Given the description of an element on the screen output the (x, y) to click on. 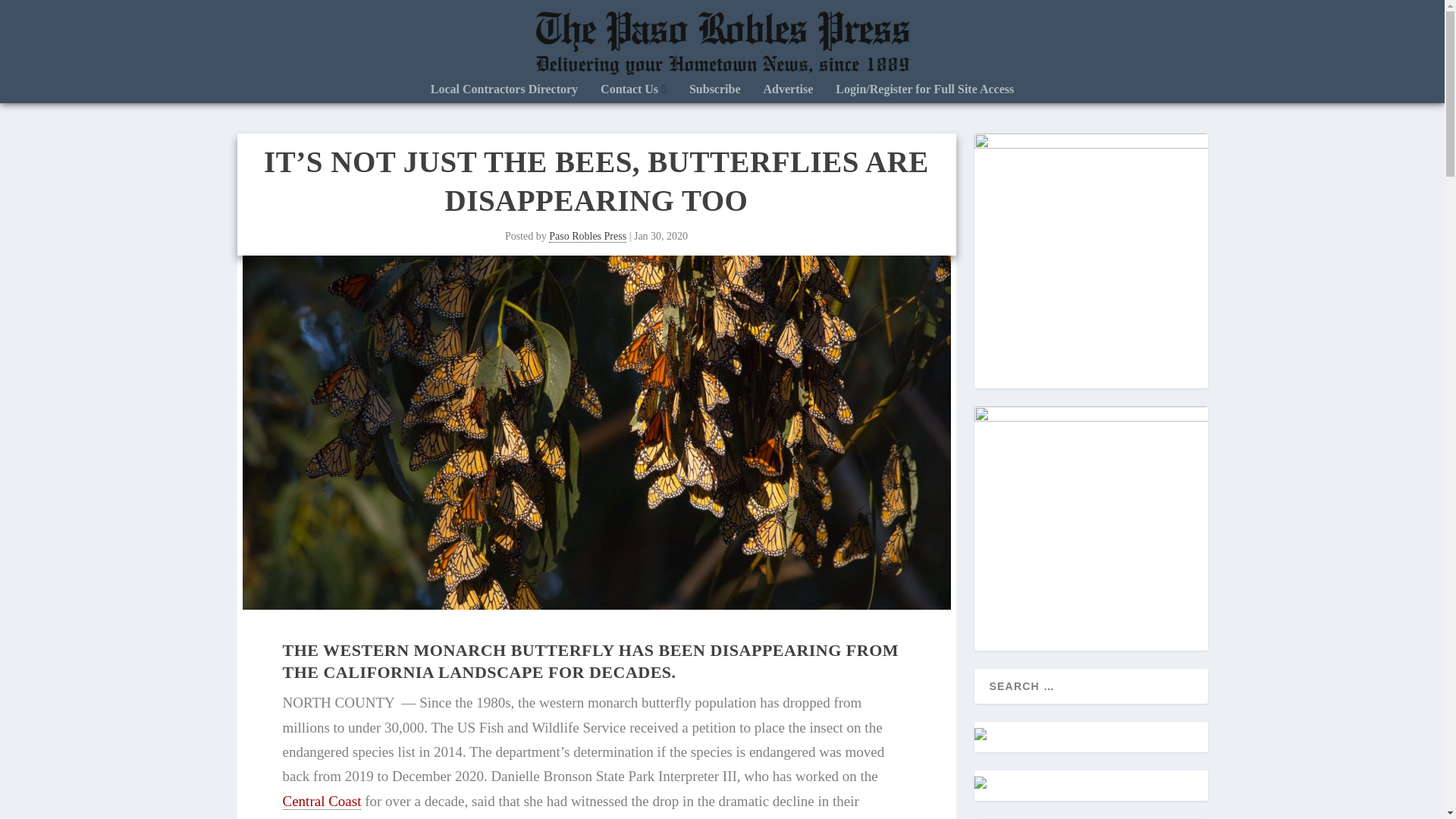
Central Coast (321, 801)
Contact Us (632, 93)
Subscribe (714, 93)
Paso Robles Press (587, 236)
Advertise (787, 93)
Posts by Paso Robles Press (587, 236)
Local Contractors Directory (504, 93)
